Given the description of an element on the screen output the (x, y) to click on. 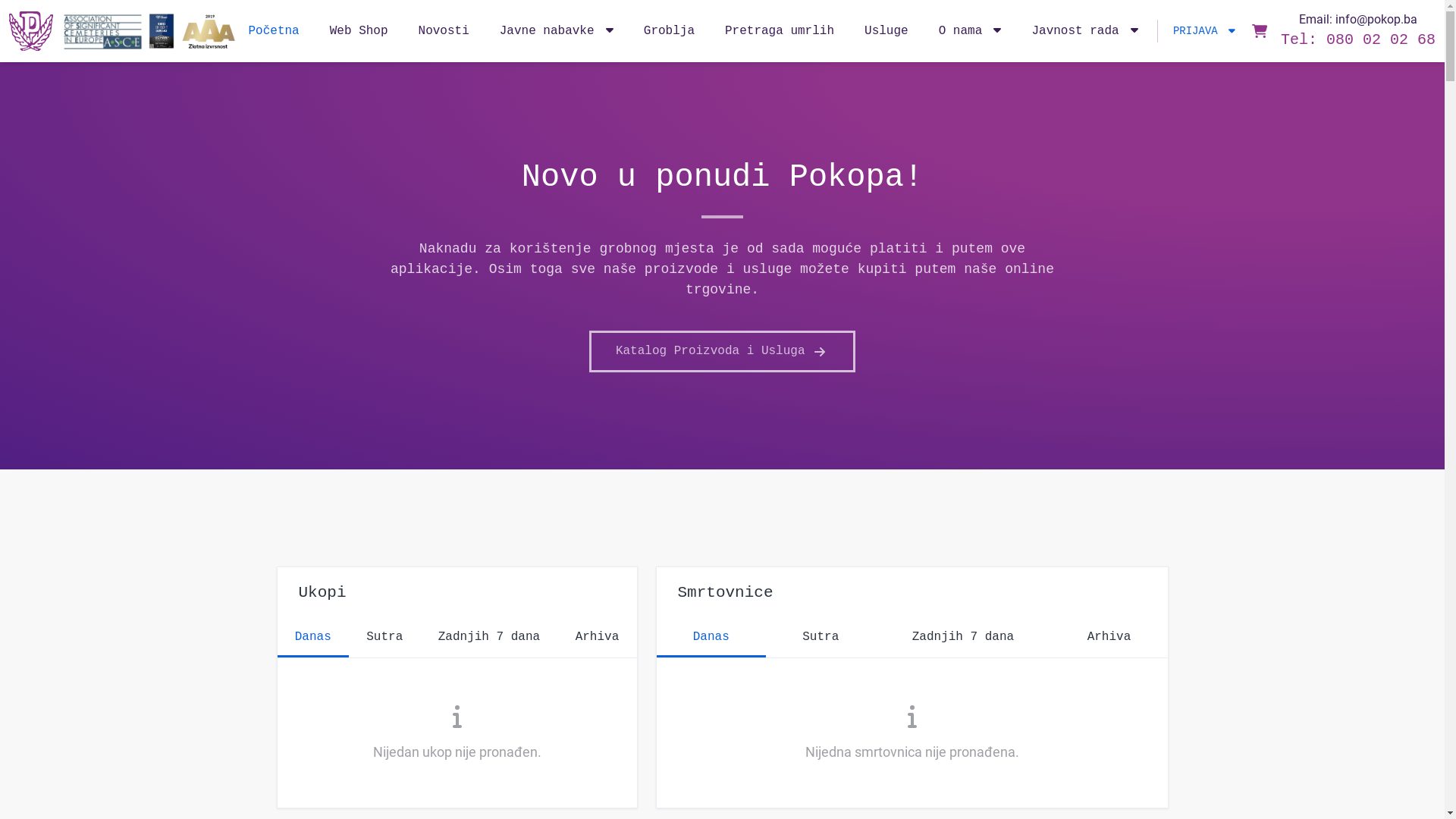
Certifikat EN 15017 Element type: hover (161, 30)
Web Shop Element type: text (358, 30)
Danas Element type: text (711, 637)
Certifikat Zlatna Izvrsnost Element type: hover (208, 30)
Javnost rada Element type: text (1084, 30)
Danas Element type: text (313, 637)
Katalog Proizvoda i Usluga Element type: text (722, 351)
Arhiva Element type: text (596, 637)
Sutra Element type: text (820, 637)
O nama Element type: text (969, 30)
Usluge Element type: text (886, 30)
Sutra Element type: text (384, 637)
Pretraga umrlih Element type: text (779, 30)
PRIJAVA Element type: text (1196, 30)
Arhiva Element type: text (1108, 637)
Javne nabavke Element type: text (556, 30)
Zadnjih 7 dana Element type: text (962, 637)
Zadnjih 7 dana Element type: text (488, 637)
Novosti Element type: text (443, 30)
Groblja Element type: text (668, 30)
